Given the description of an element on the screen output the (x, y) to click on. 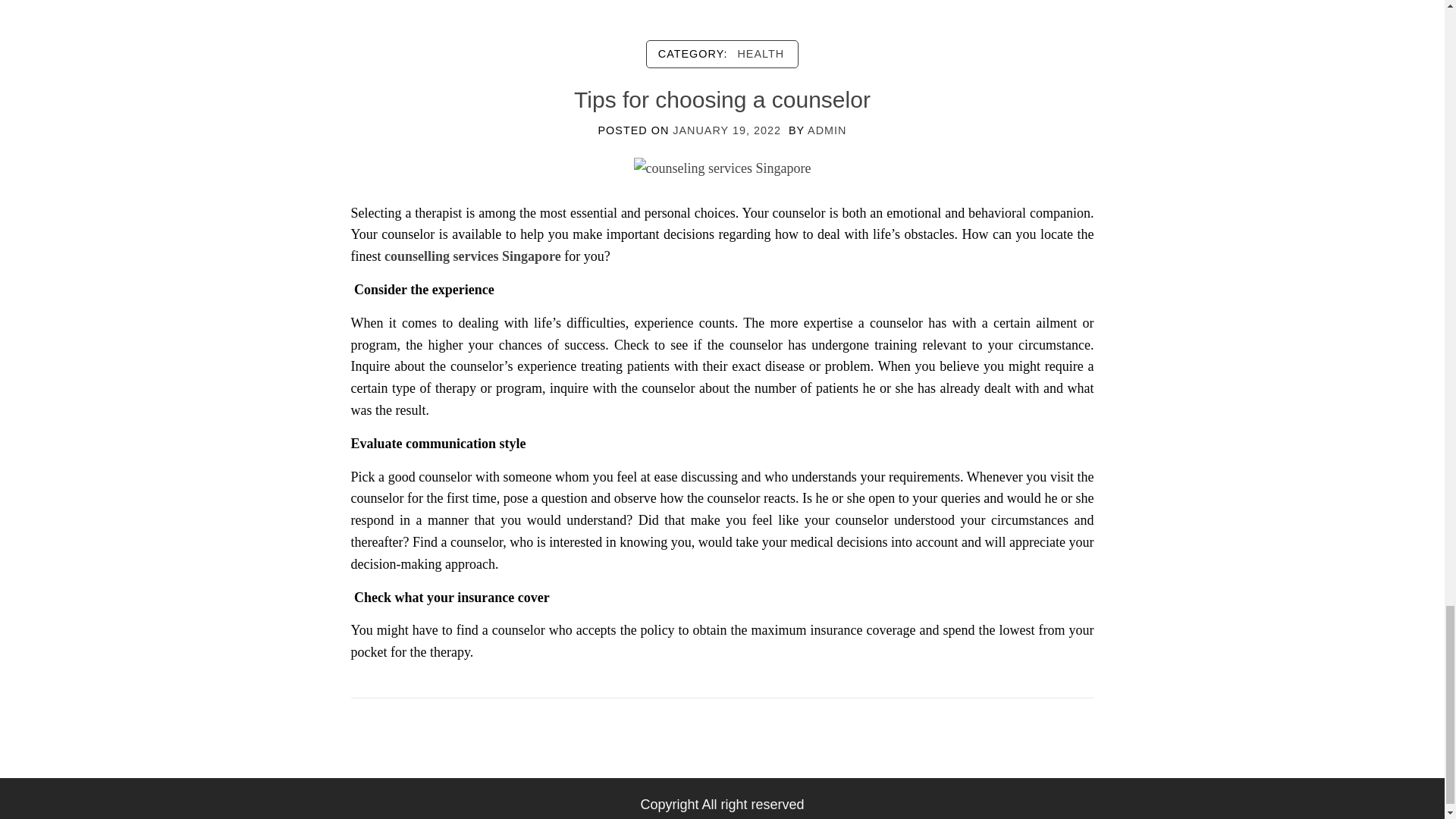
Tips for choosing a counselor (721, 166)
HEALTH (760, 53)
JANUARY 19, 2022 (726, 130)
counselling services Singapore (472, 255)
ADMIN (826, 130)
Tips for choosing a counselor (721, 99)
